Given the description of an element on the screen output the (x, y) to click on. 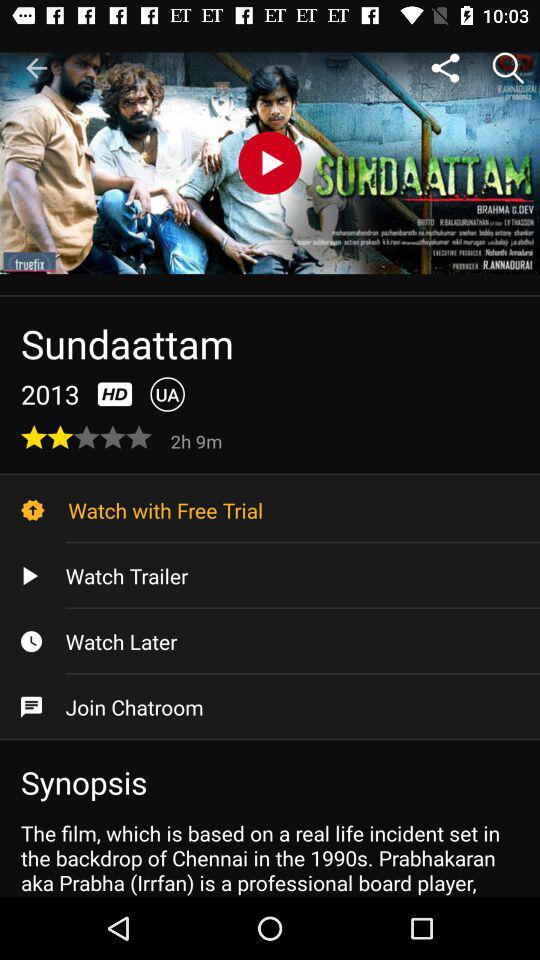
scroll until the the film which (270, 857)
